Given the description of an element on the screen output the (x, y) to click on. 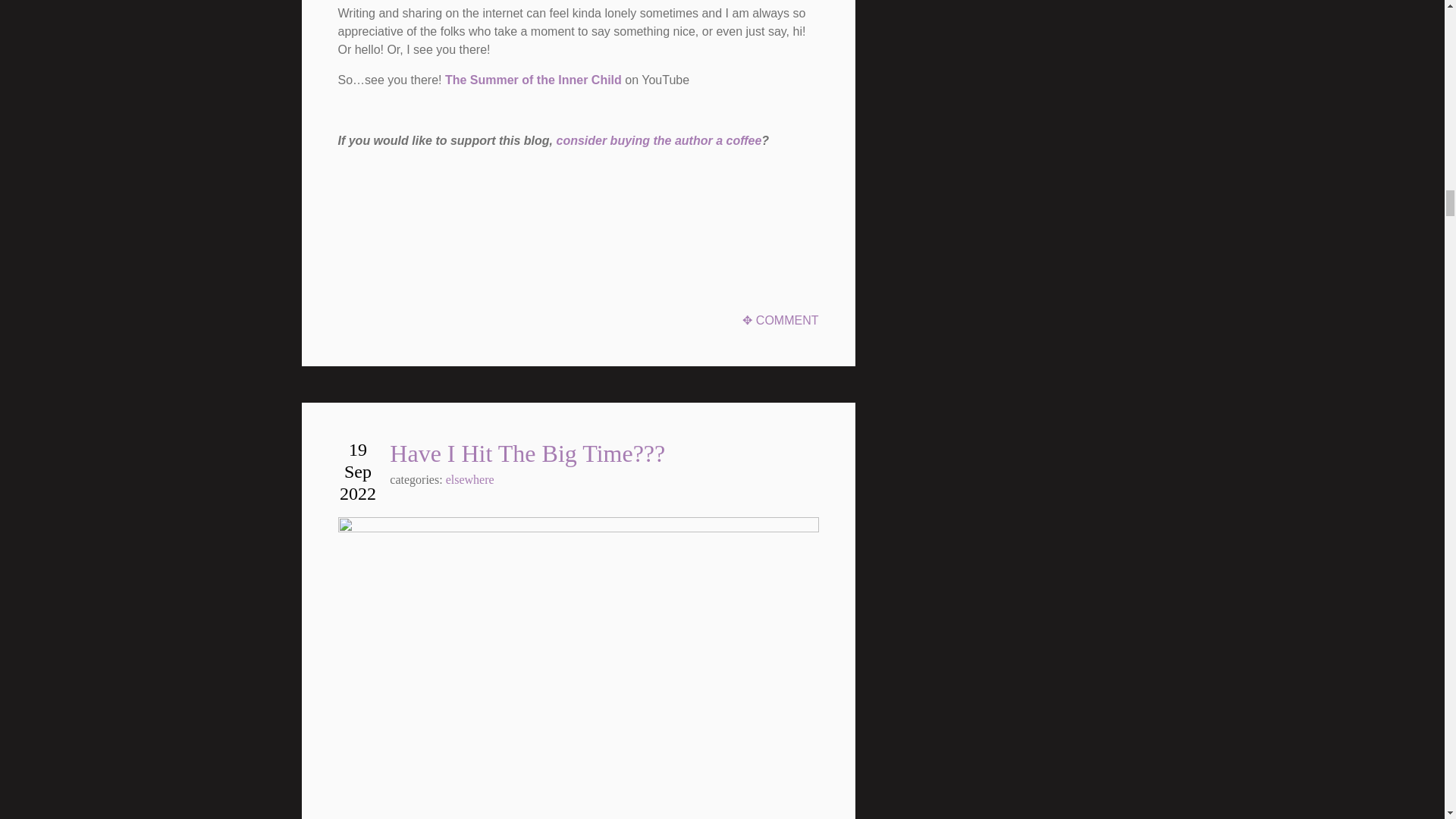
Patreon Widget (451, 219)
